Given the description of an element on the screen output the (x, y) to click on. 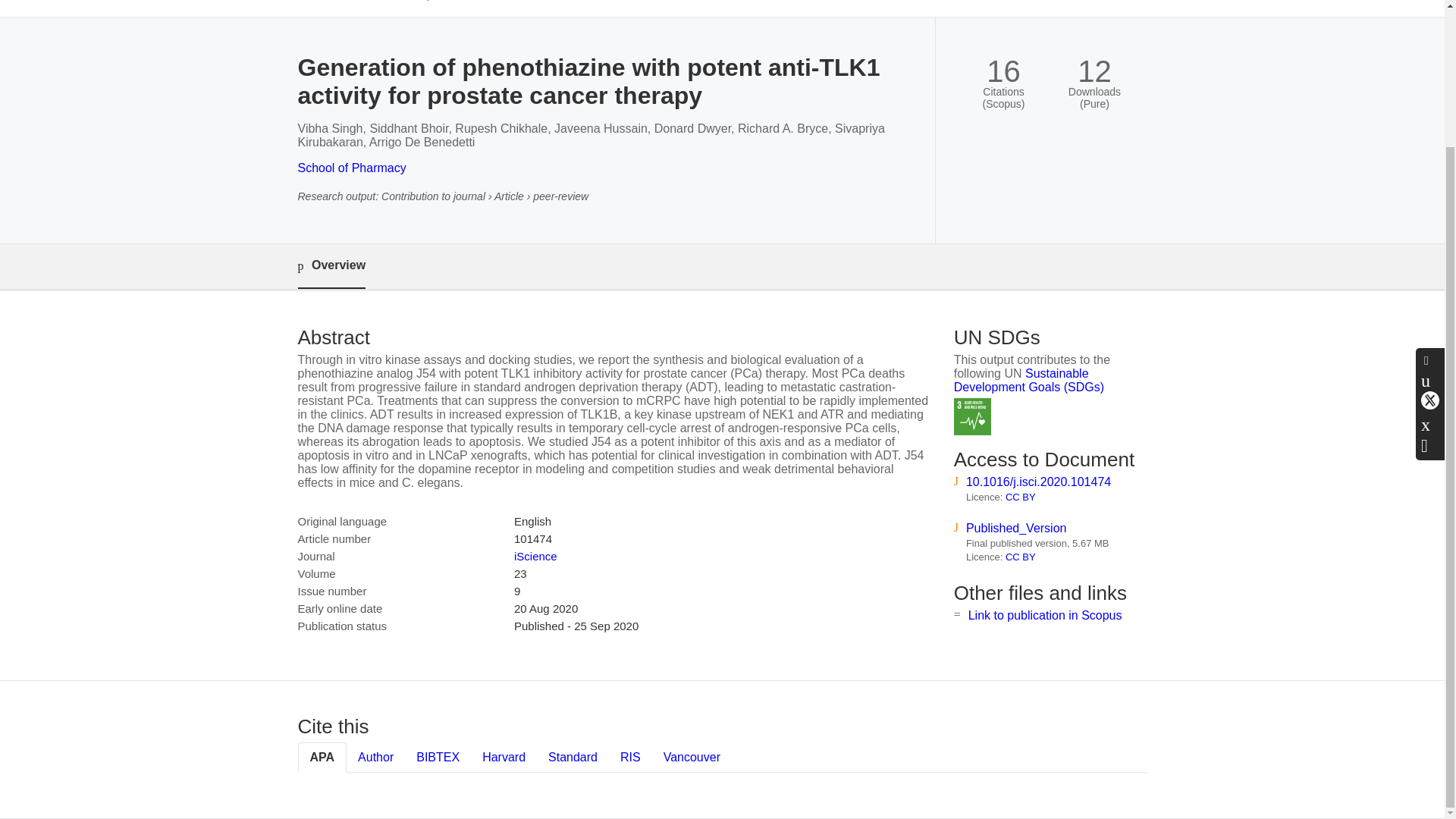
SDG 3 - Good Health and Well-being (972, 416)
CC BY (1020, 556)
Impacts (436, 8)
iScience (535, 555)
Overview (331, 266)
School of Pharmacy (351, 167)
CC BY (1020, 496)
Link to publication in Scopus (1045, 615)
